Given the description of an element on the screen output the (x, y) to click on. 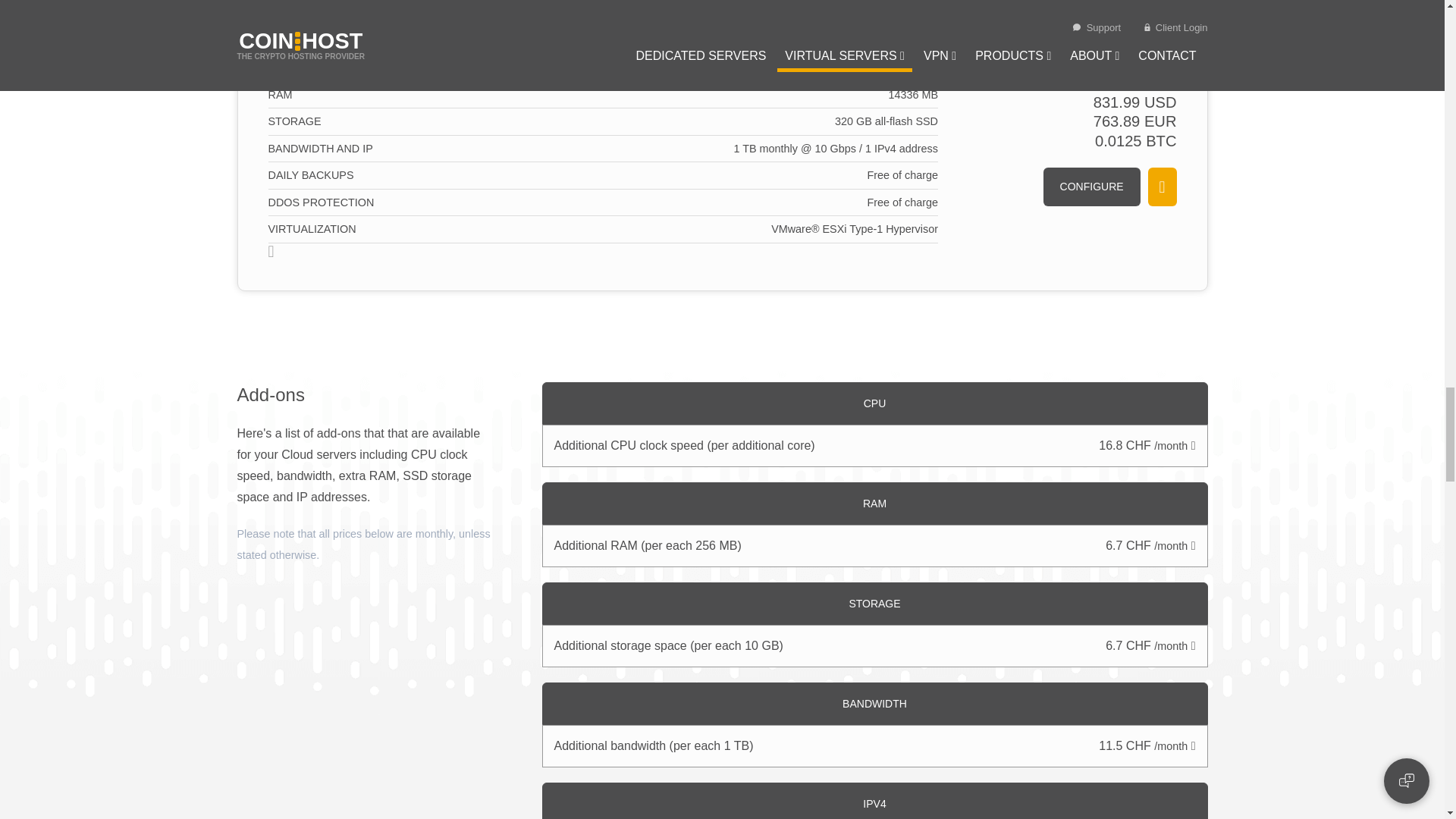
Average rating: 5 out of 5 (1147, 19)
